Given the description of an element on the screen output the (x, y) to click on. 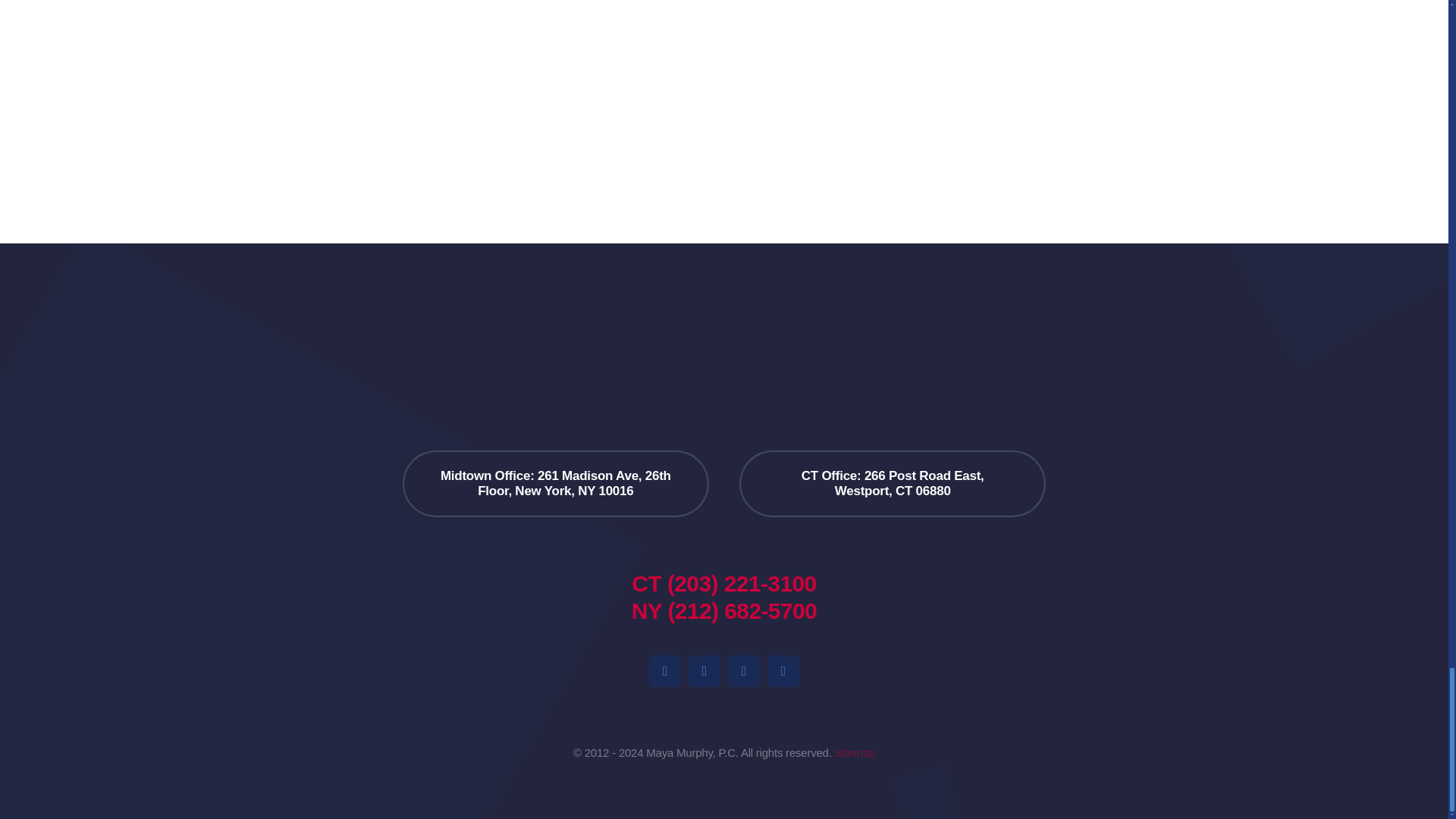
YouTube (744, 671)
Twitter (783, 671)
Facebook (665, 671)
Instagram (704, 671)
